Given the description of an element on the screen output the (x, y) to click on. 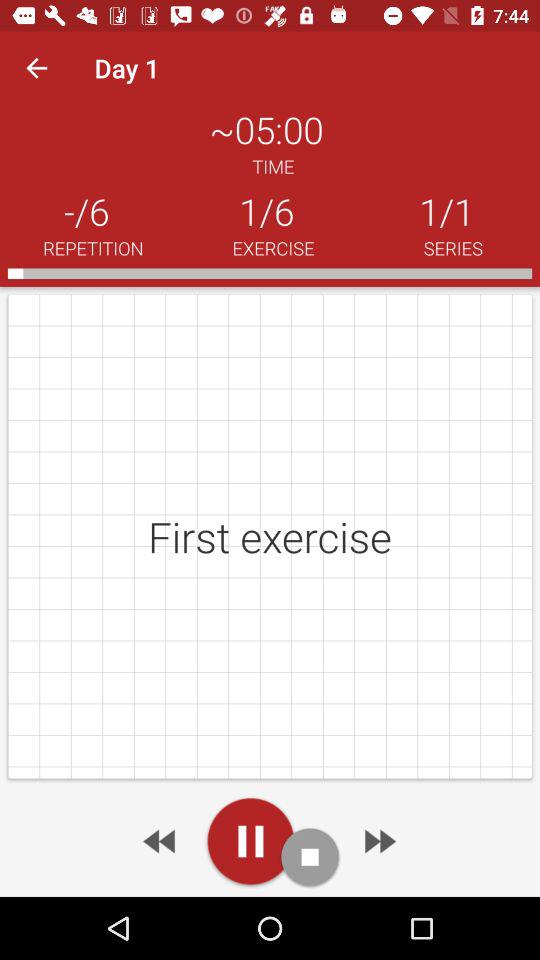
go to location option (250, 841)
